Given the description of an element on the screen output the (x, y) to click on. 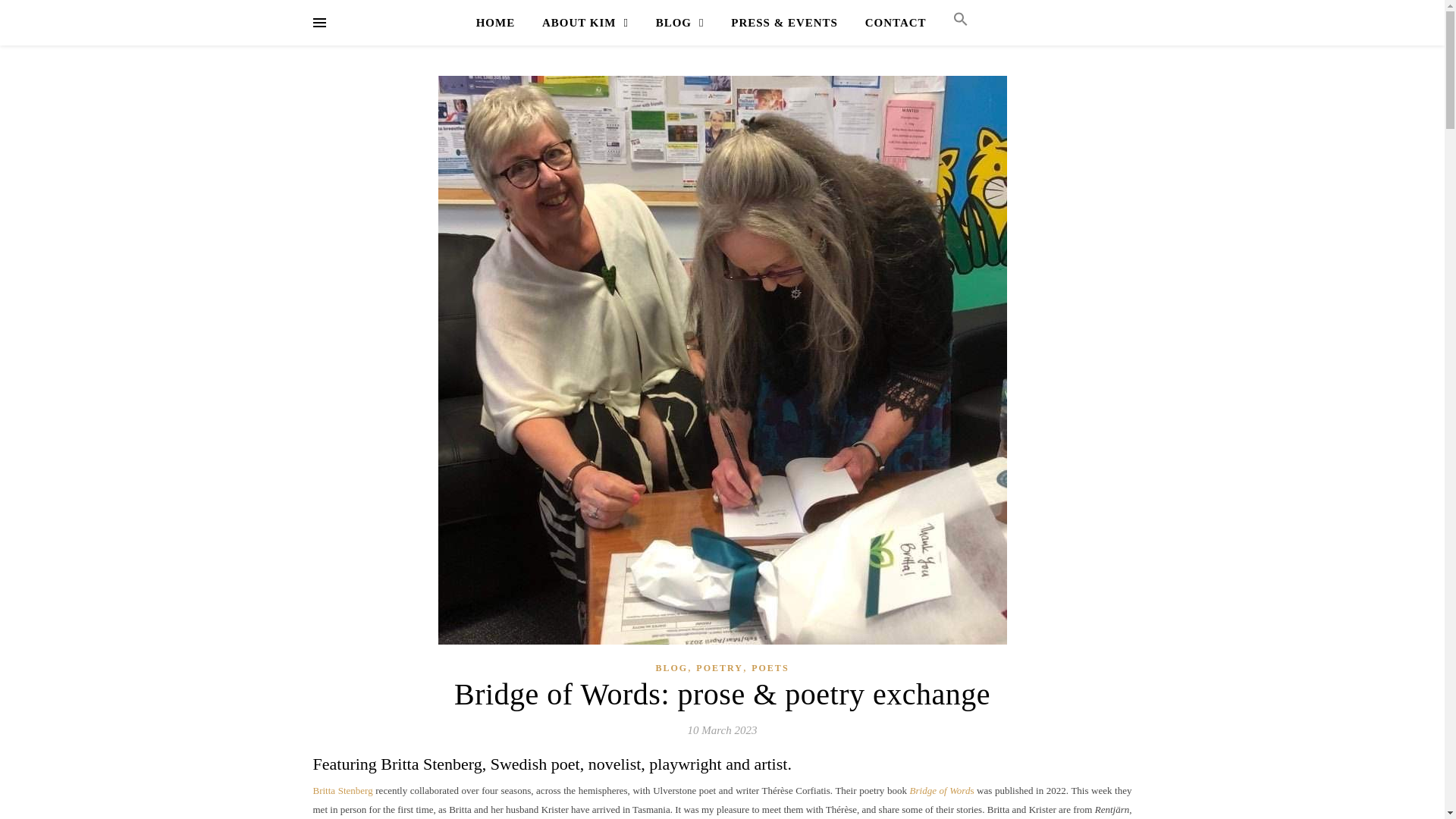
ABOUT KIM (584, 22)
CONTACT (896, 22)
HOME (501, 22)
BLOG (679, 22)
